Given the description of an element on the screen output the (x, y) to click on. 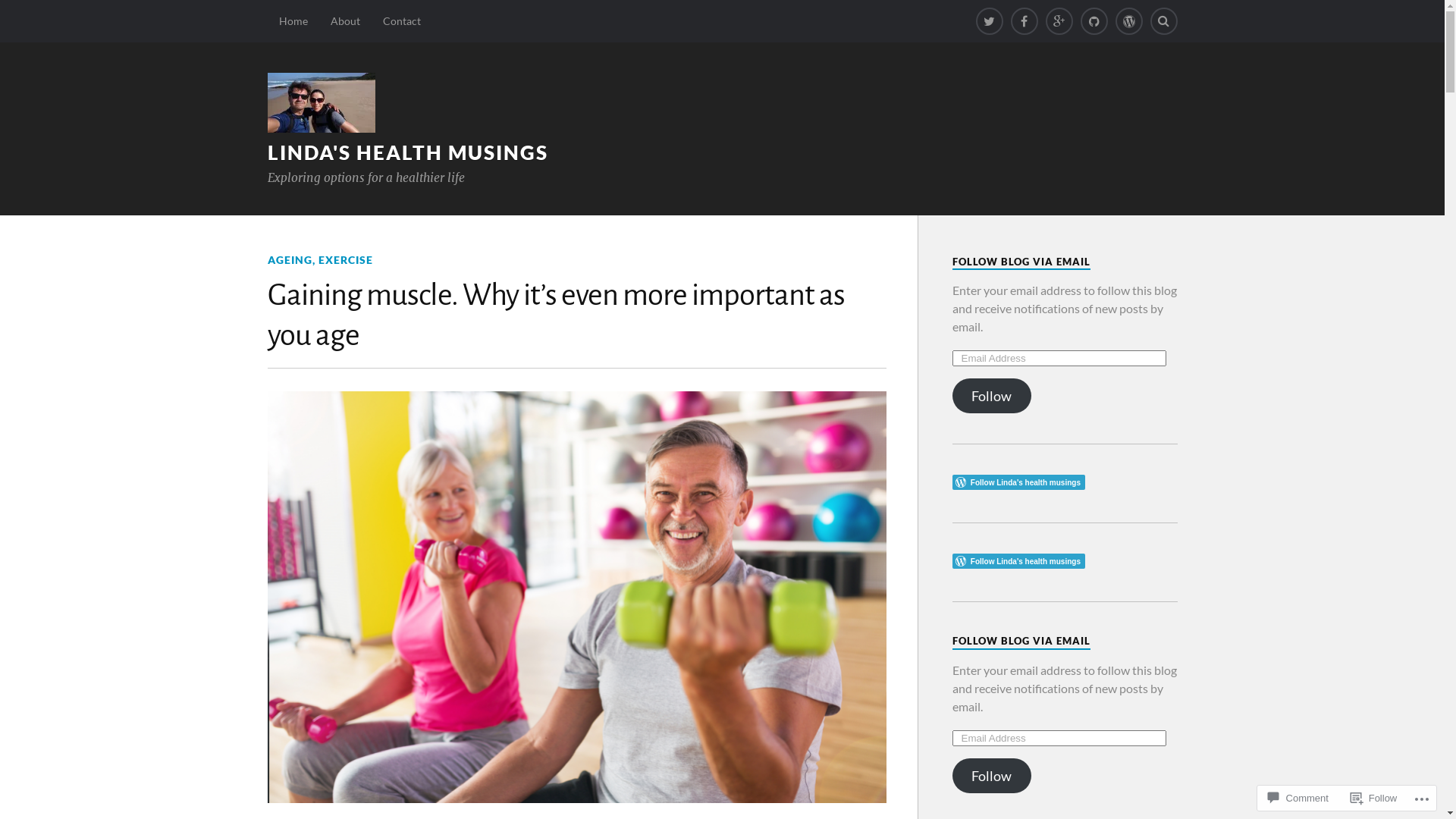
LINDA'S HEALTH MUSINGS Element type: text (406, 152)
Follow Element type: text (1373, 797)
AGEING Element type: text (288, 259)
Follow Element type: text (992, 775)
Home Element type: text (292, 21)
Follow Button Element type: hover (1064, 481)
Comment Element type: text (1297, 797)
Contact Element type: text (401, 21)
EXERCISE Element type: text (345, 259)
About Element type: text (344, 21)
Follow Button Element type: hover (1064, 560)
Follow Element type: text (992, 395)
